Given the description of an element on the screen output the (x, y) to click on. 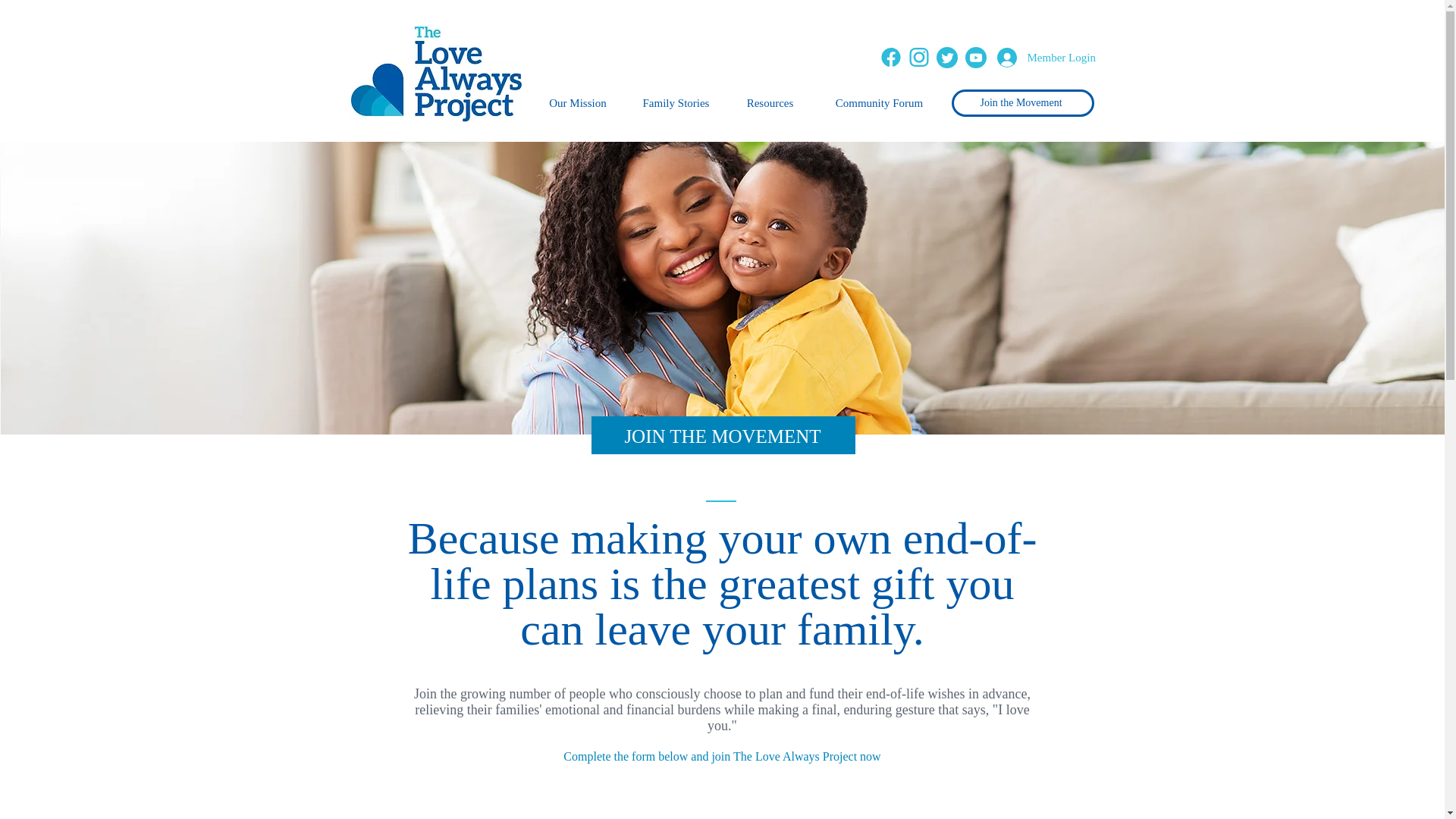
Member Login (1031, 57)
Complete the form below and join The Love Always Project now (721, 756)
Community Forum (878, 103)
JOIN THE MOVEMENT (722, 435)
Family Stories (675, 103)
Join the Movement (1021, 103)
Our Mission (578, 103)
Resources (769, 103)
